Given the description of an element on the screen output the (x, y) to click on. 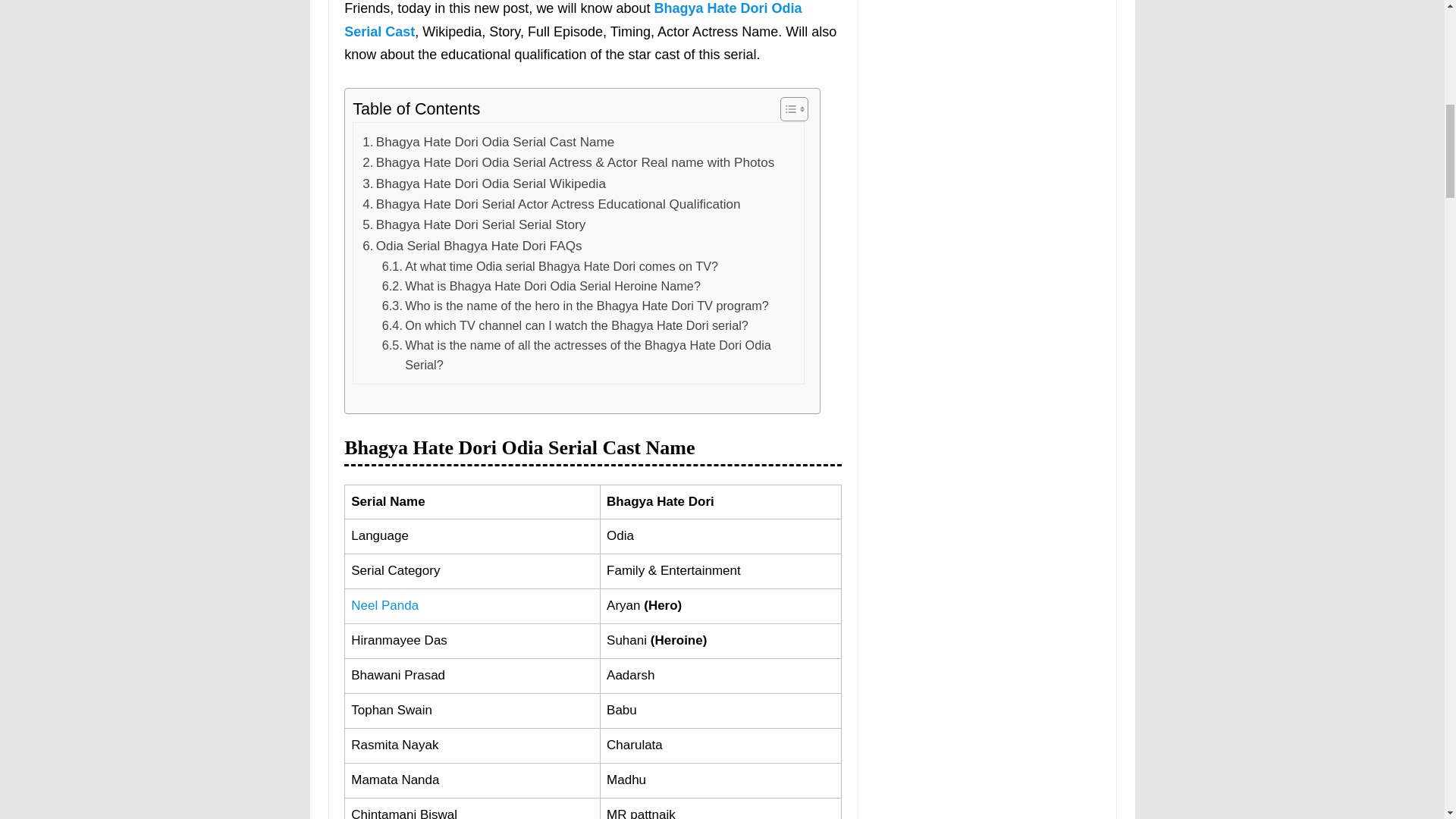
Neel Panda (384, 605)
On which TV channel can I watch the Bhagya Hate Dori serial? (564, 324)
Bhagya Hate Dori Serial Serial Story (473, 224)
At what time Odia serial Bhagya Hate Dori comes on TV? (549, 266)
What is Bhagya Hate Dori Odia Serial Heroine Name? (540, 285)
Bhagya Hate Dori Odia Serial Cast Name (488, 141)
Odia Serial Bhagya Hate Dori FAQs (471, 245)
Bhagya Hate Dori Odia Serial Wikipedia (483, 183)
